Given the description of an element on the screen output the (x, y) to click on. 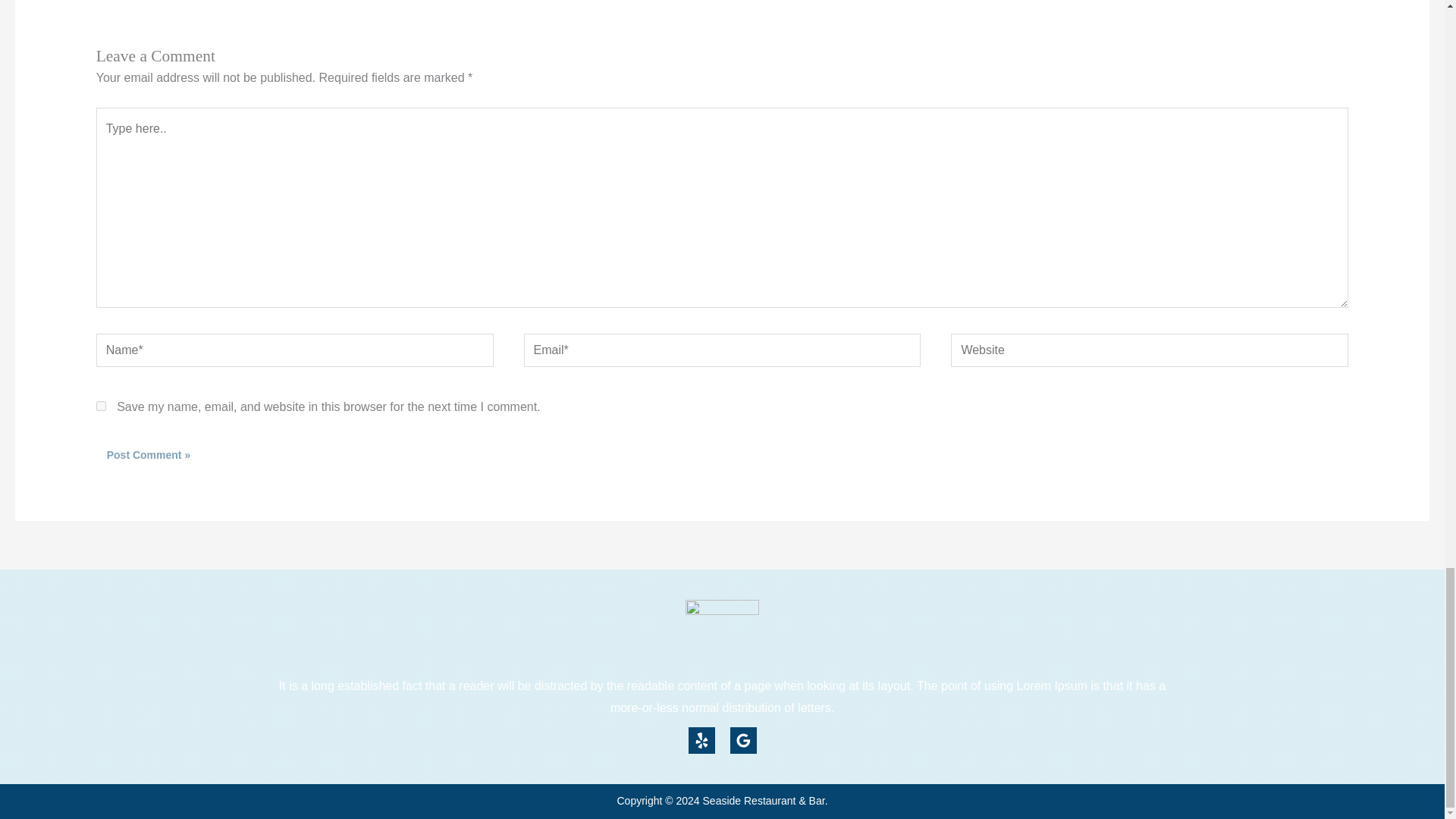
yes (101, 406)
